Given the description of an element on the screen output the (x, y) to click on. 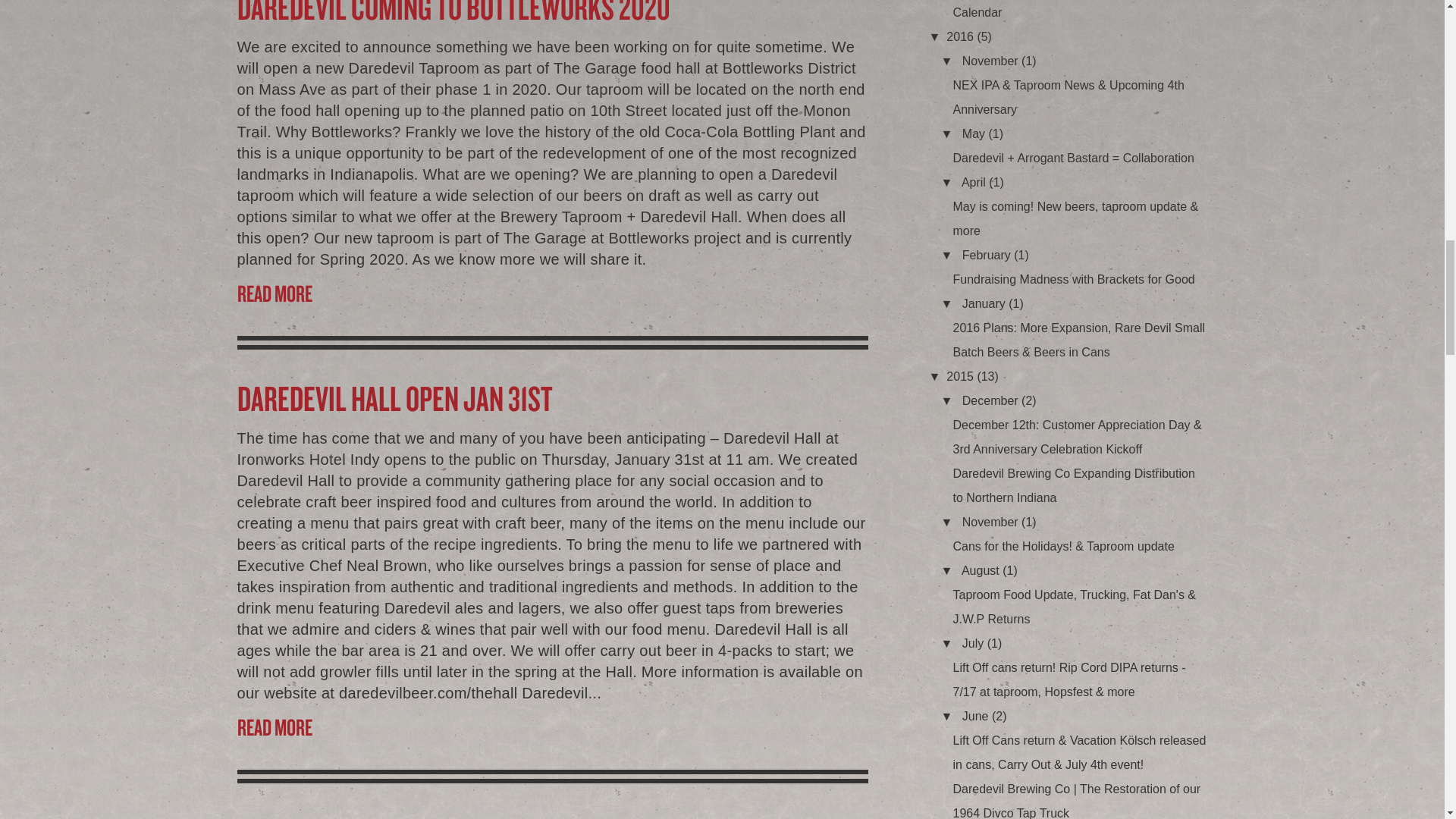
DAREDEVIL COMING TO BOTTLEWORKS 2020 (551, 12)
READ MORE (551, 293)
DAREDEVIL HALL OPEN JAN 31ST (551, 398)
READ MORE (551, 726)
